Given the description of an element on the screen output the (x, y) to click on. 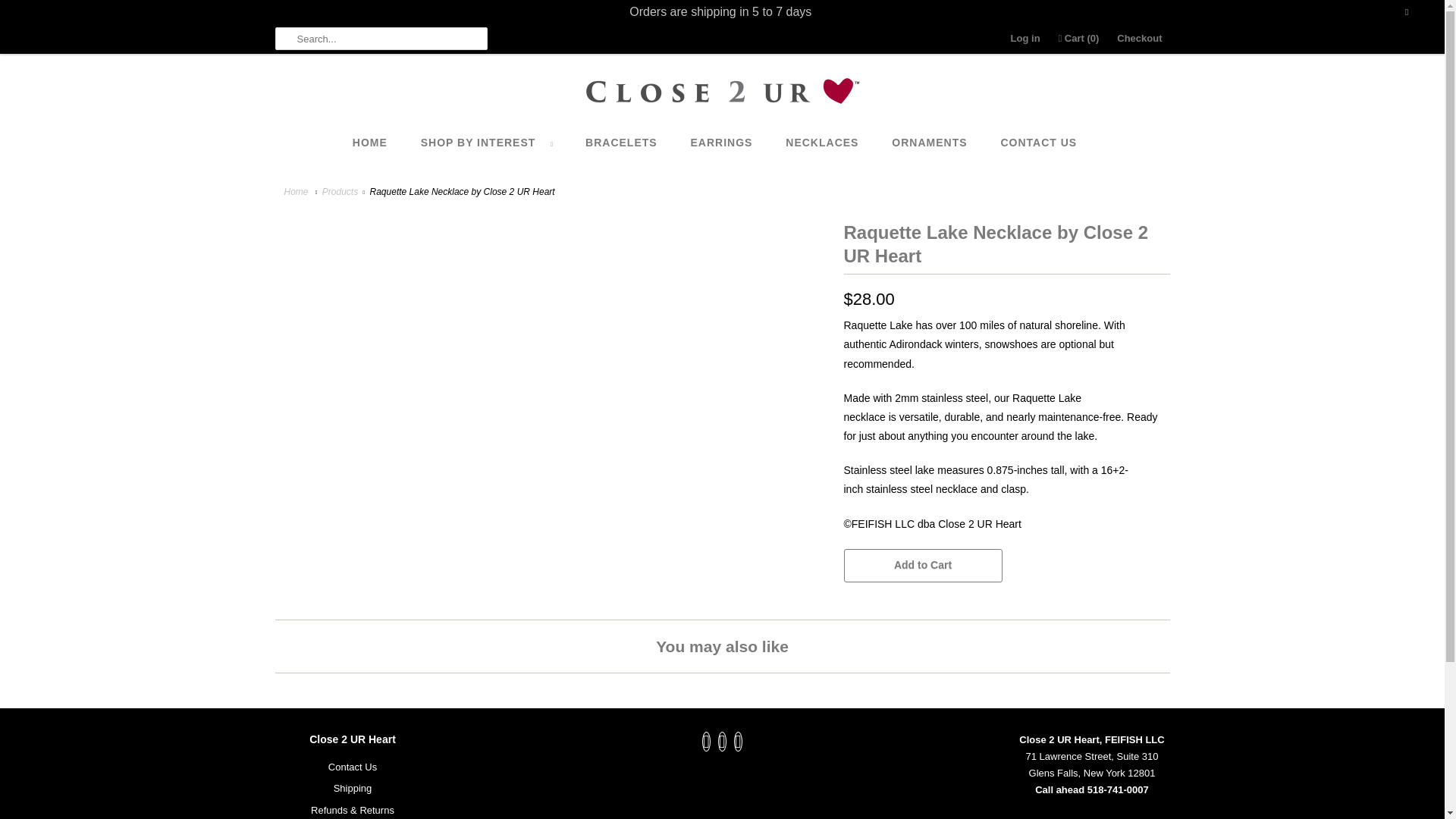
Close 2 UR Heart (296, 191)
ORNAMENTS (928, 142)
HOME (369, 142)
NECKLACES (822, 142)
Home (296, 191)
Close 2 UR Heart (722, 93)
EARRINGS (721, 142)
CONTACT US (1038, 142)
Products (339, 191)
Raquette Lake Necklace by Close 2 UR Heart (551, 226)
